Given the description of an element on the screen output the (x, y) to click on. 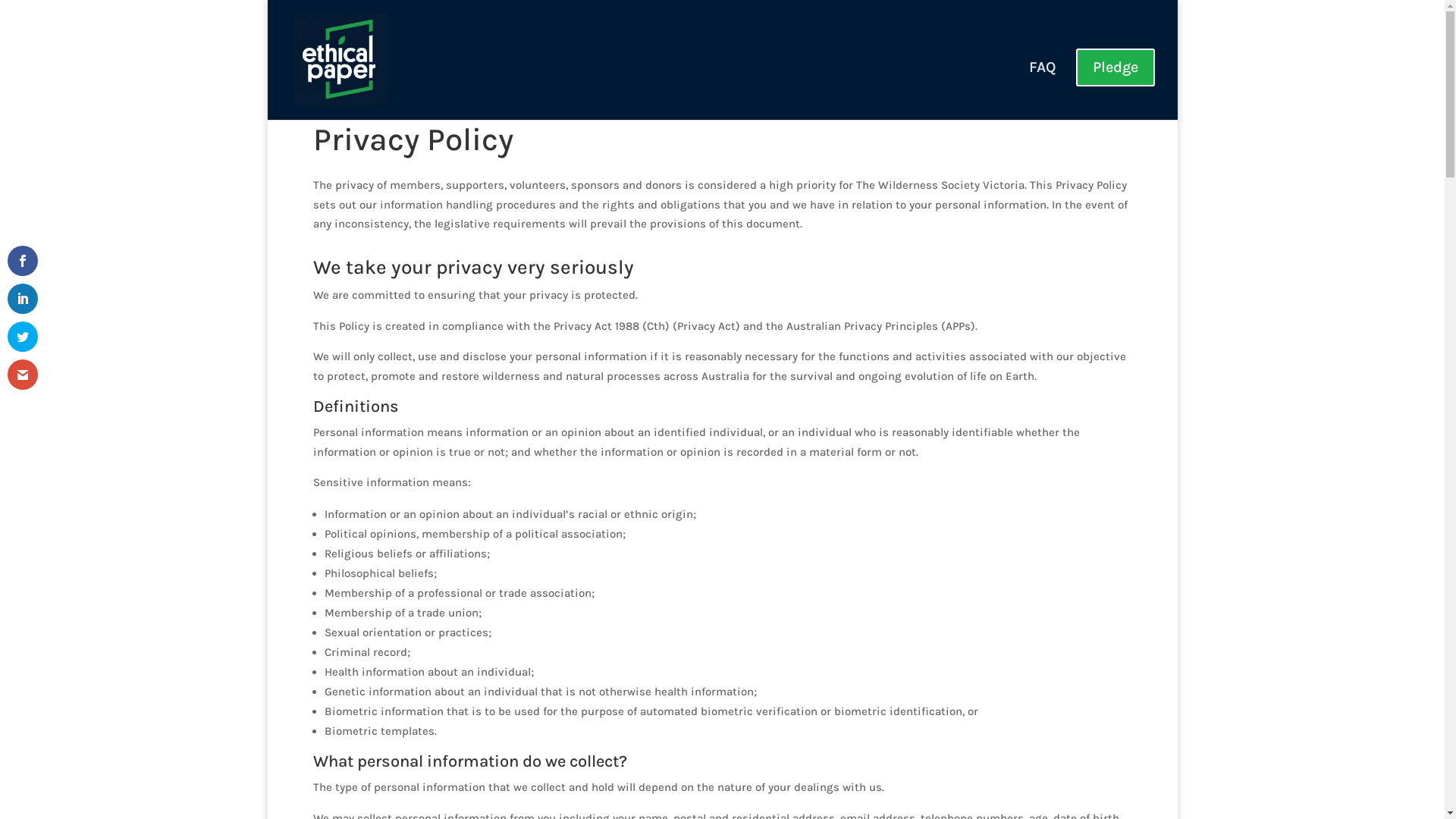
FAQ Element type: text (1041, 84)
Pledge Element type: text (1114, 76)
